Given the description of an element on the screen output the (x, y) to click on. 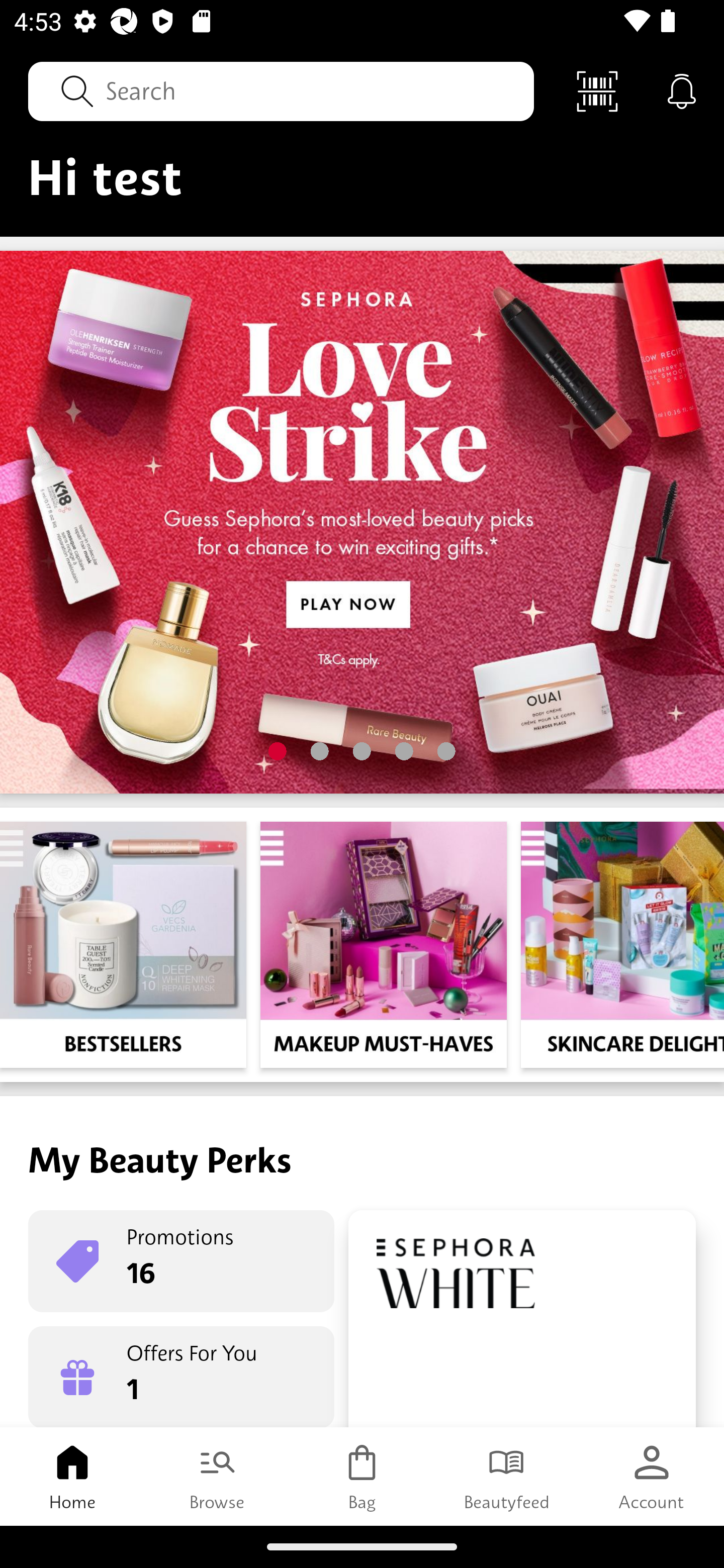
Scan Code (597, 90)
Notifications (681, 90)
Search (281, 90)
Promotions 16 (181, 1261)
Rewards Boutique 90 Pts (521, 1318)
Offers For You 1 (181, 1376)
Browse (216, 1475)
Bag (361, 1475)
Beautyfeed (506, 1475)
Account (651, 1475)
